Given the description of an element on the screen output the (x, y) to click on. 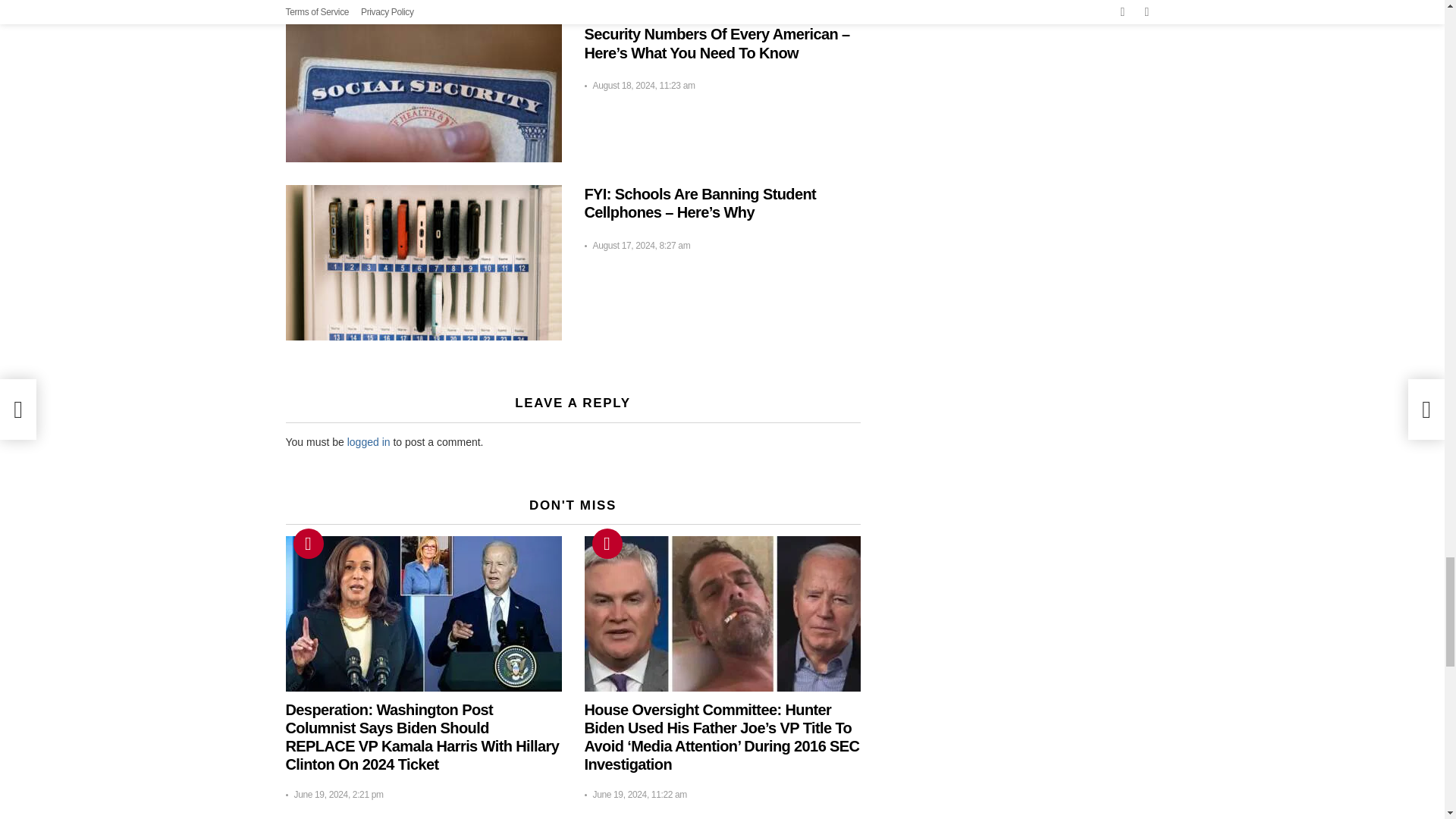
Trending (307, 543)
Trending (606, 543)
